Given the description of an element on the screen output the (x, y) to click on. 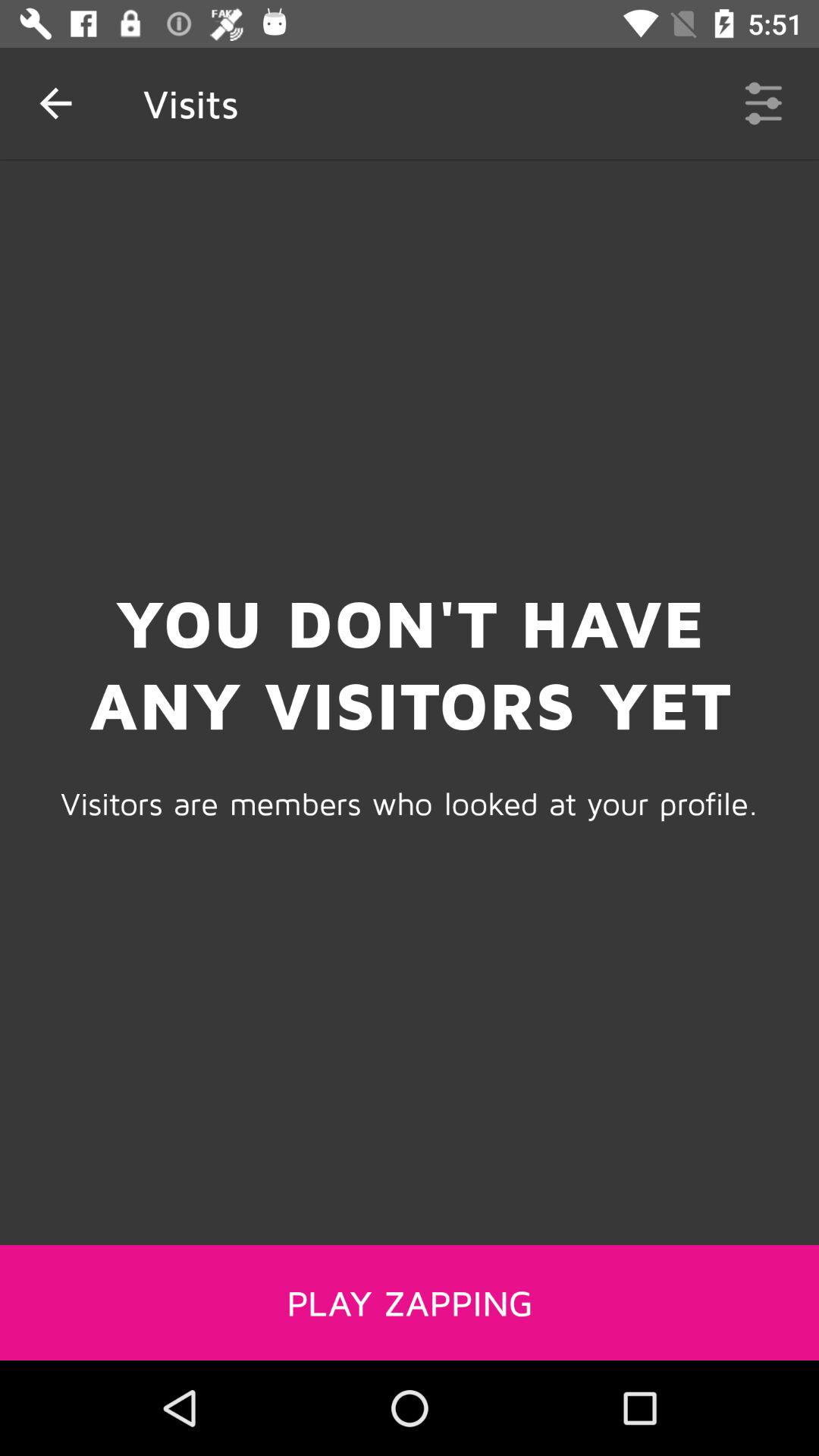
press item below visitors are members icon (409, 1302)
